Given the description of an element on the screen output the (x, y) to click on. 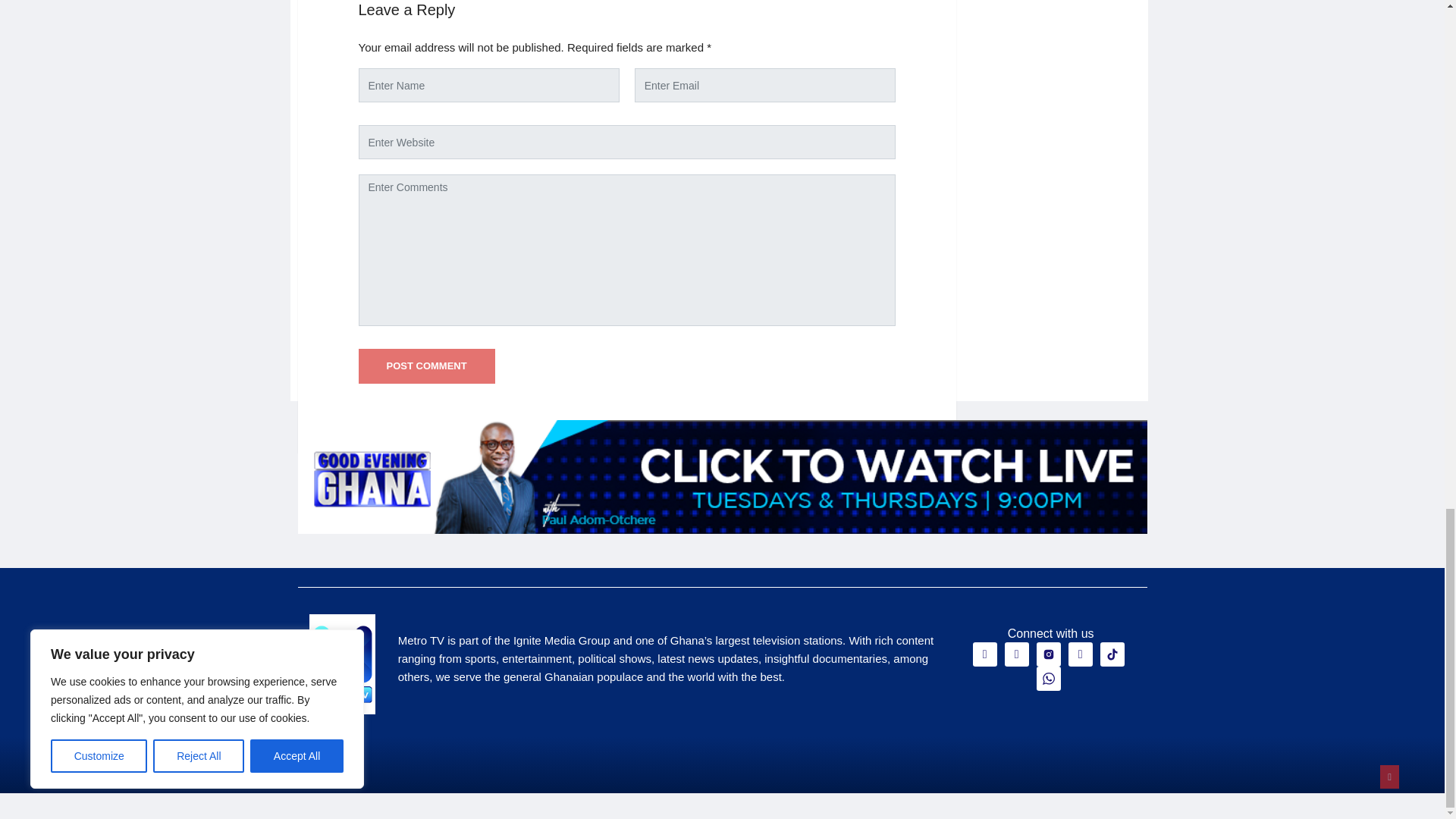
Post Comment (426, 366)
